Given the description of an element on the screen output the (x, y) to click on. 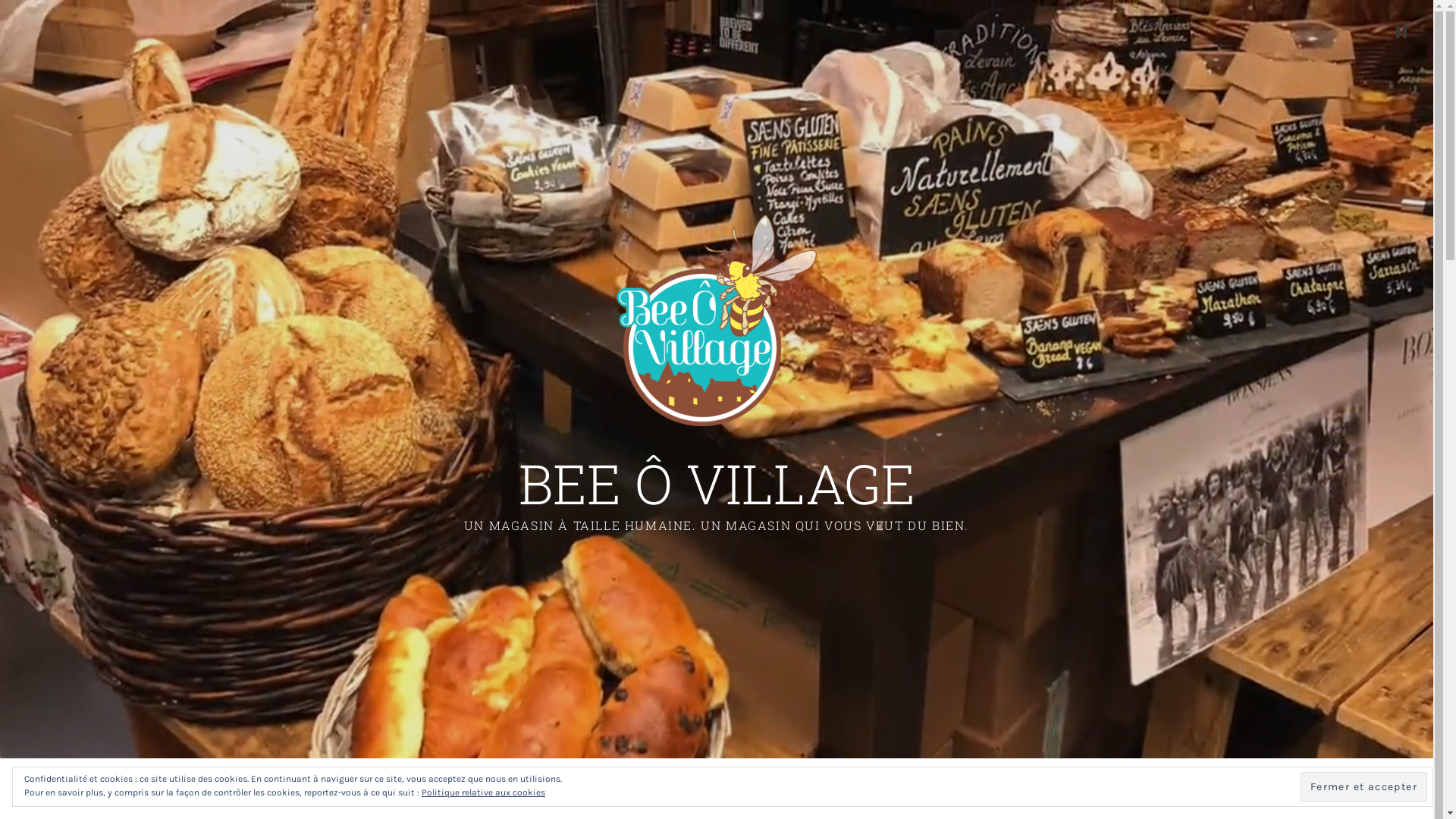
NOS RECETTES Element type: text (804, 788)
CONTACT Element type: text (891, 788)
PRODUITS Element type: text (708, 788)
Fermer et accepter Element type: text (1363, 786)
Politique relative aux cookies Element type: text (483, 792)
BIENVENUE Element type: text (547, 788)
